Given the description of an element on the screen output the (x, y) to click on. 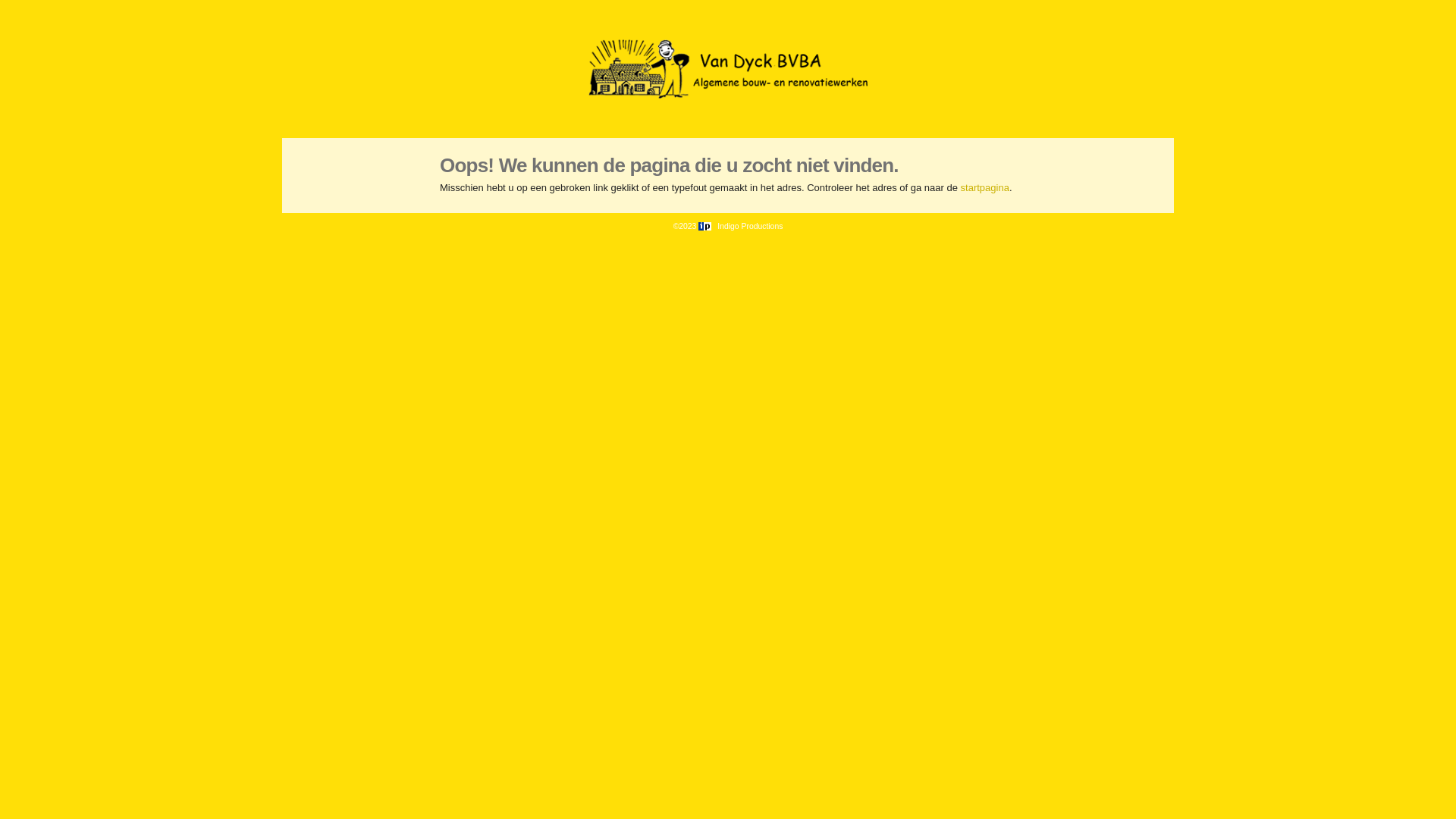
Indigo Productions Element type: text (740, 226)
startpagina Element type: text (984, 187)
